Given the description of an element on the screen output the (x, y) to click on. 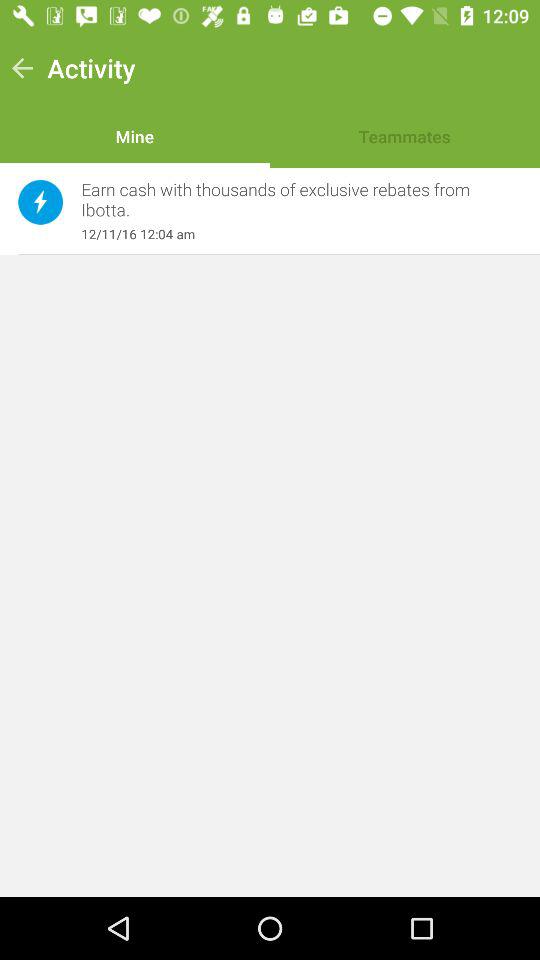
jump until the 12 11 16 (291, 234)
